Given the description of an element on the screen output the (x, y) to click on. 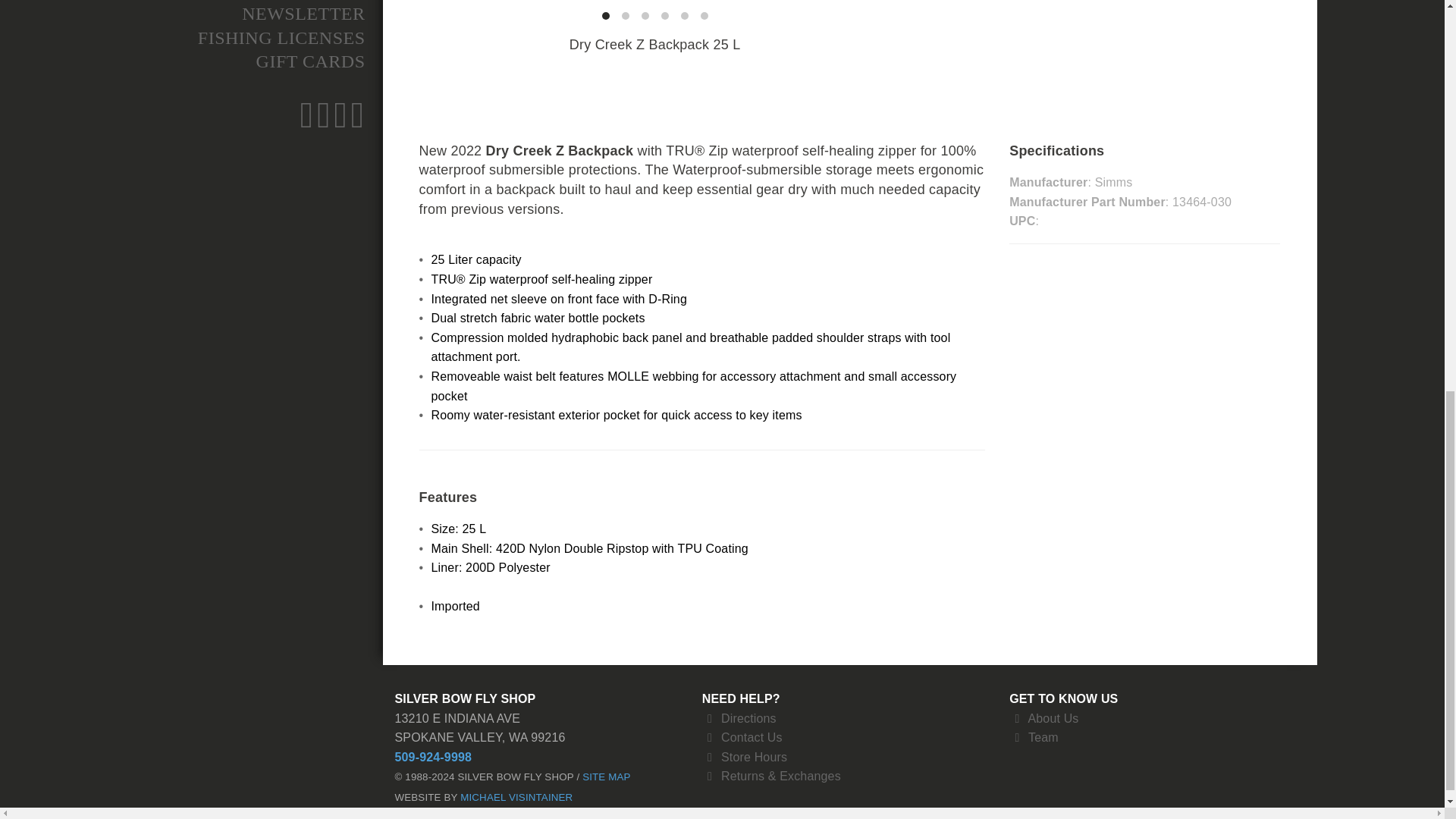
Youtube (357, 123)
Twitter (323, 123)
Dry Creek Z Backpack 25 L (951, 4)
Facebook (306, 123)
Instagram (340, 123)
